Given the description of an element on the screen output the (x, y) to click on. 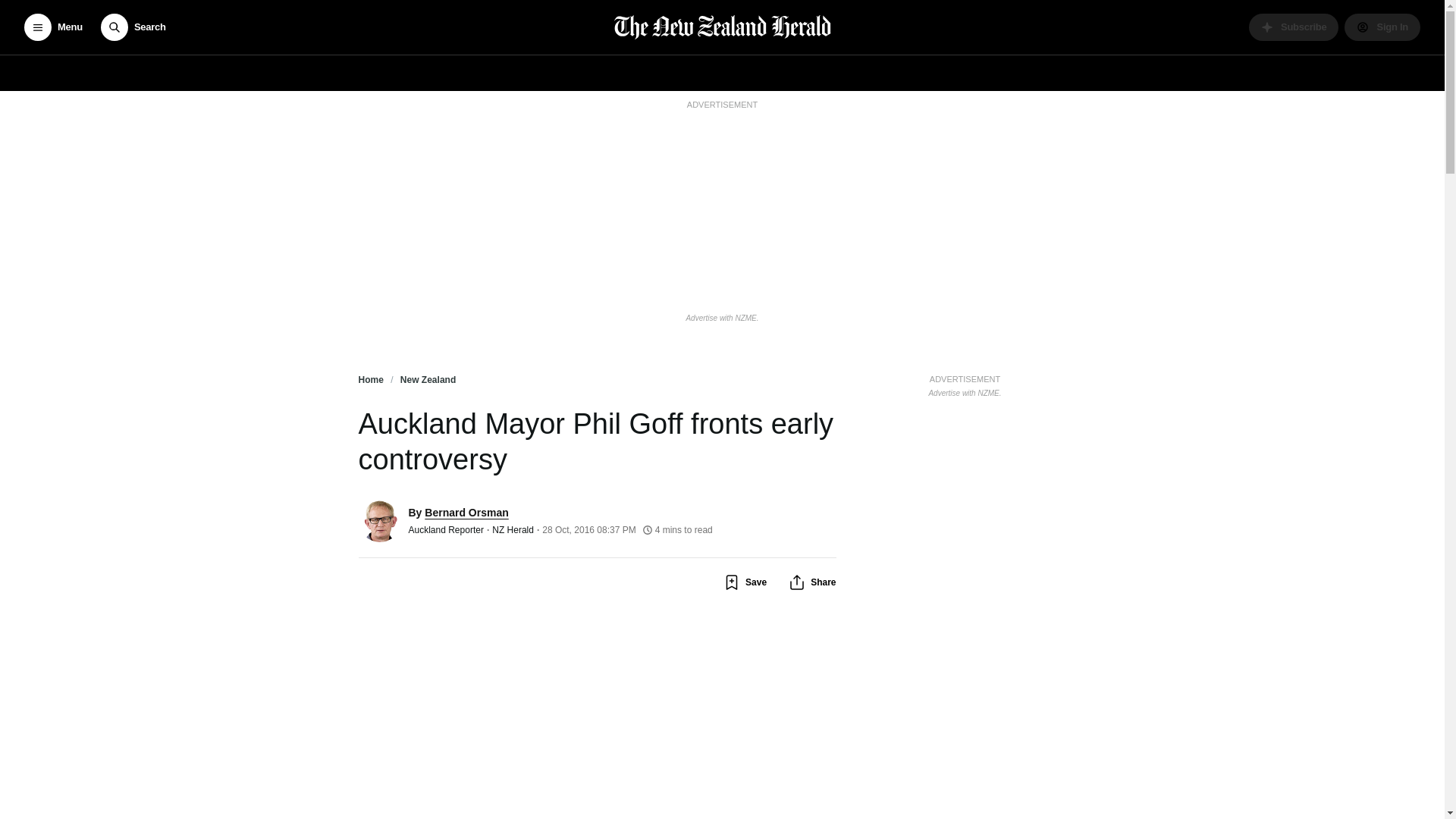
Subscribe (1294, 26)
Sign In (1382, 26)
Manage your account (1382, 26)
Menu (53, 26)
Search (132, 26)
